Given the description of an element on the screen output the (x, y) to click on. 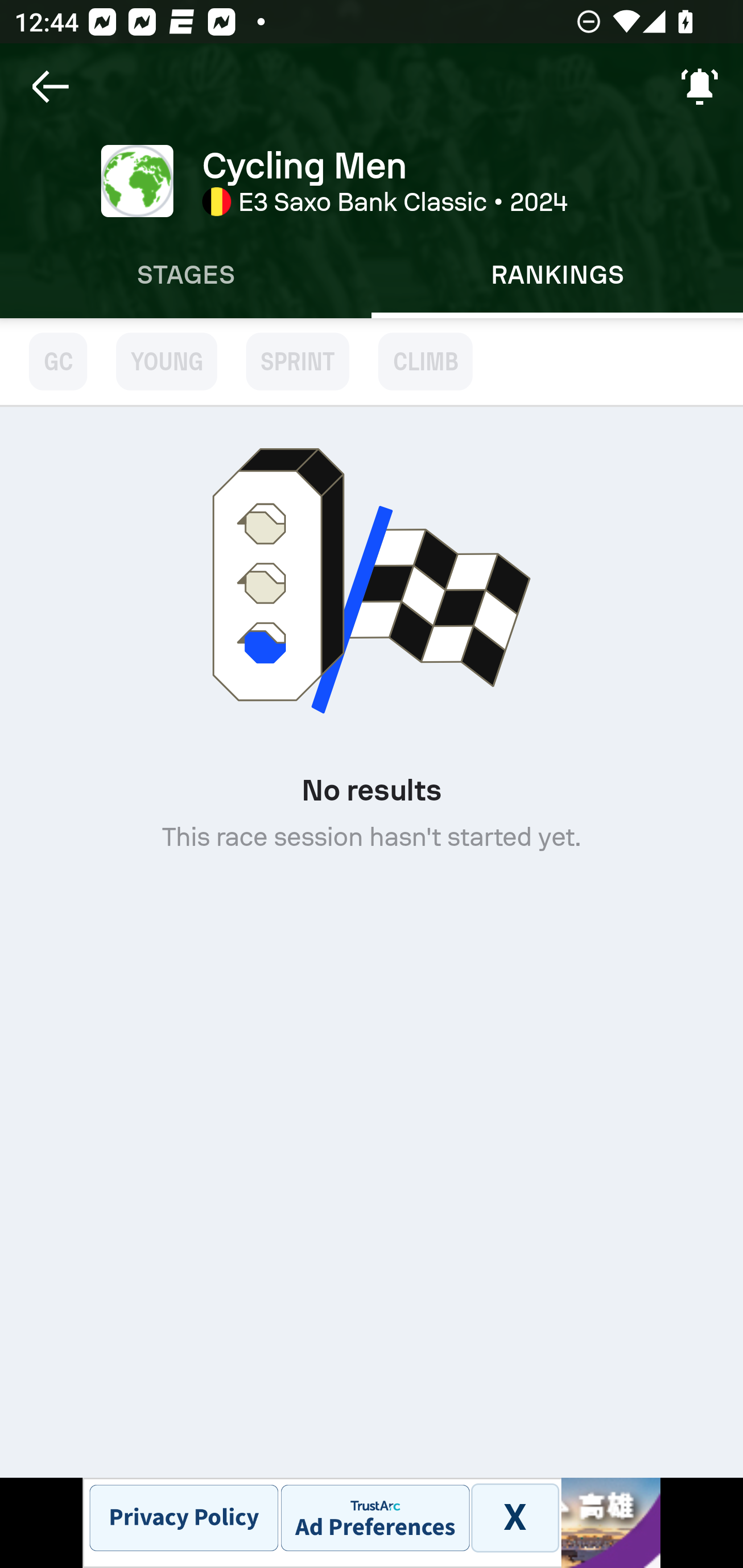
Navigate up (50, 86)
Stages STAGES (185, 275)
get?name=ta-btn-privacy (183, 1517)
get?name=btn-ad-preferences-2 (374, 1517)
X (513, 1517)
